Given the description of an element on the screen output the (x, y) to click on. 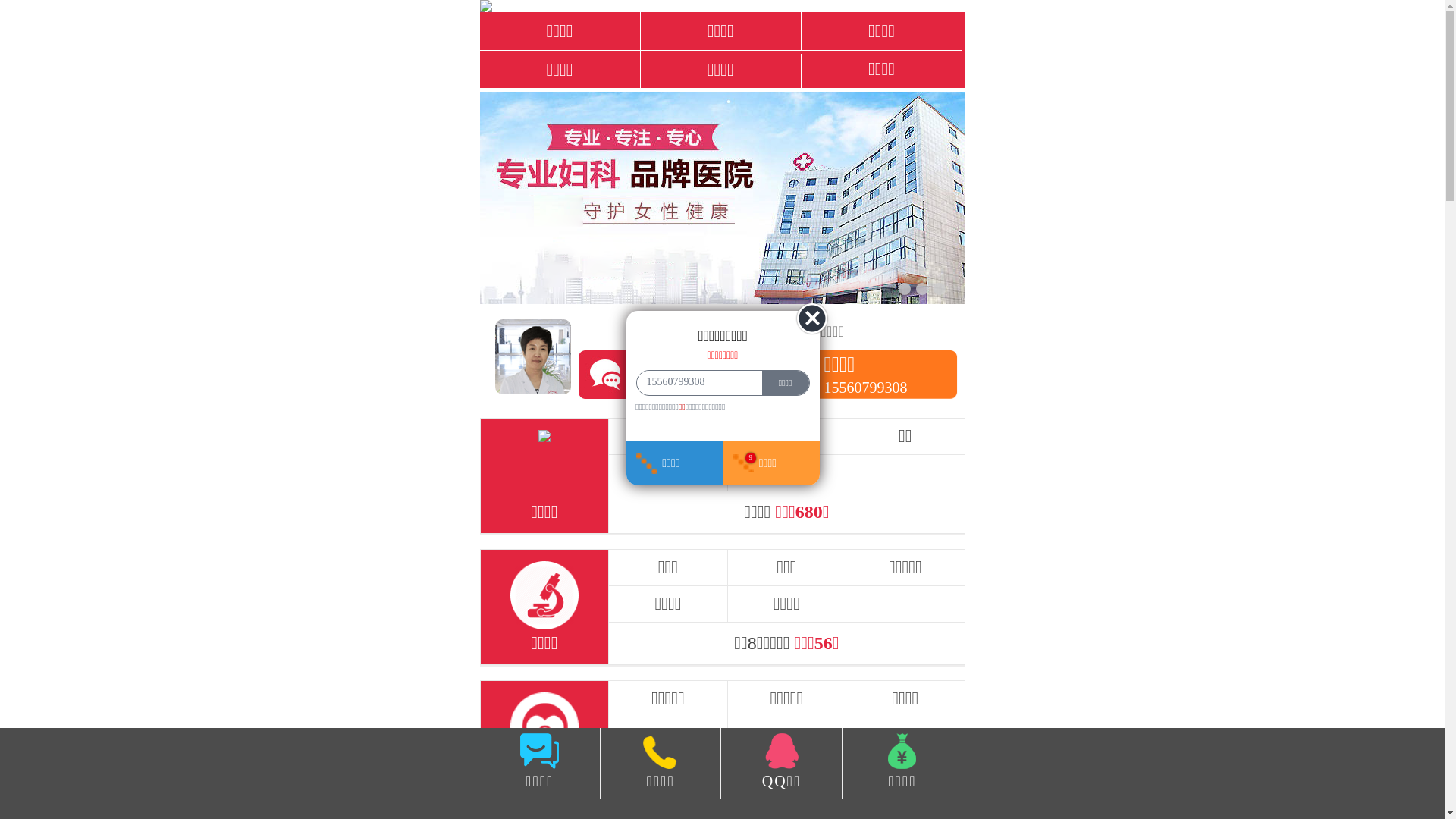
15560799308  Element type: text (695, 381)
